Given the description of an element on the screen output the (x, y) to click on. 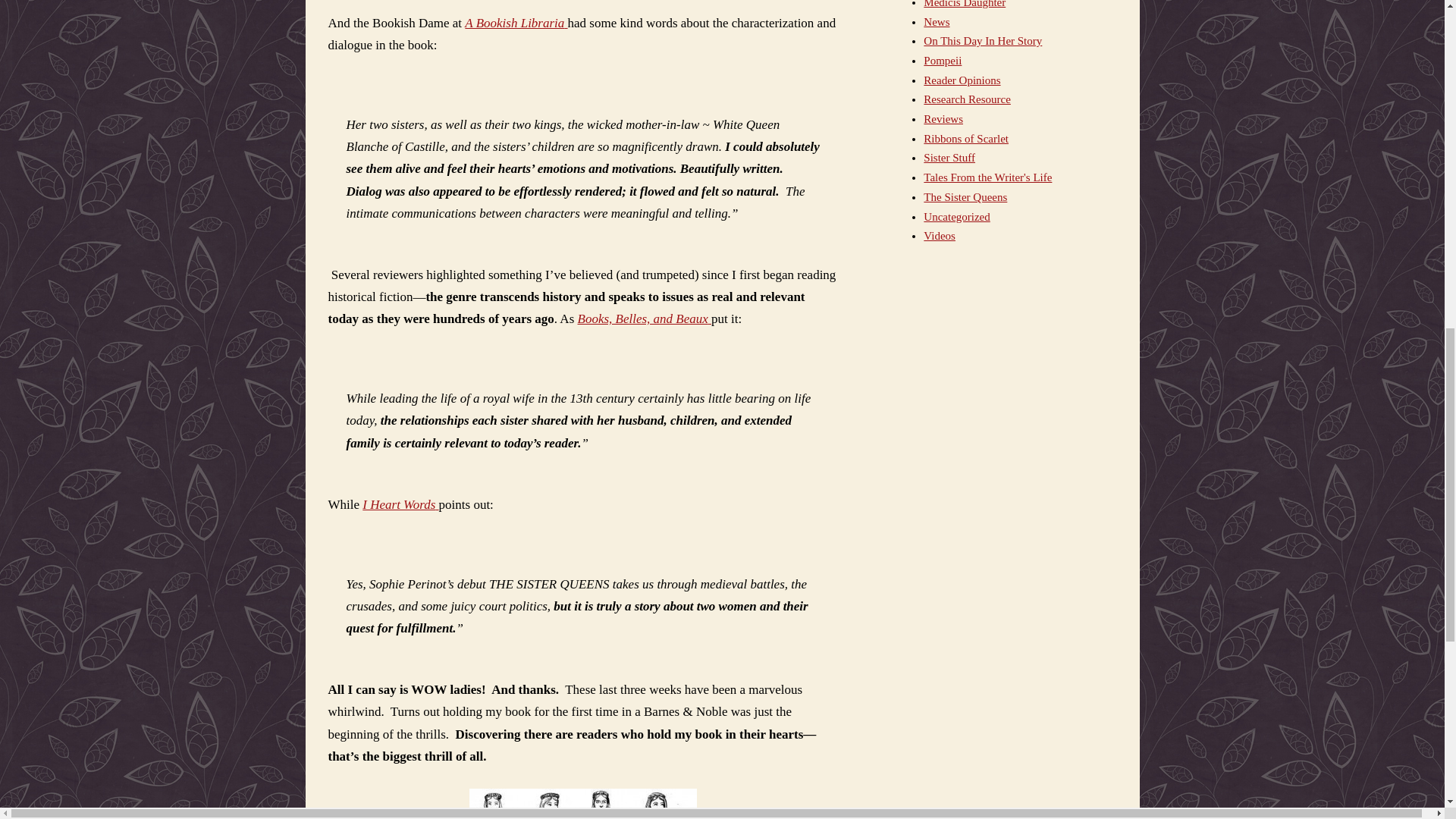
Pompeii (941, 60)
I Heart Words (400, 504)
Medicis Daughter (964, 4)
A Bookish Libraria (515, 22)
4 women in 13th cen fashions (582, 803)
Books, Belles, and Beaux (644, 318)
News (936, 21)
On This Day In Her Story (982, 40)
